Given the description of an element on the screen output the (x, y) to click on. 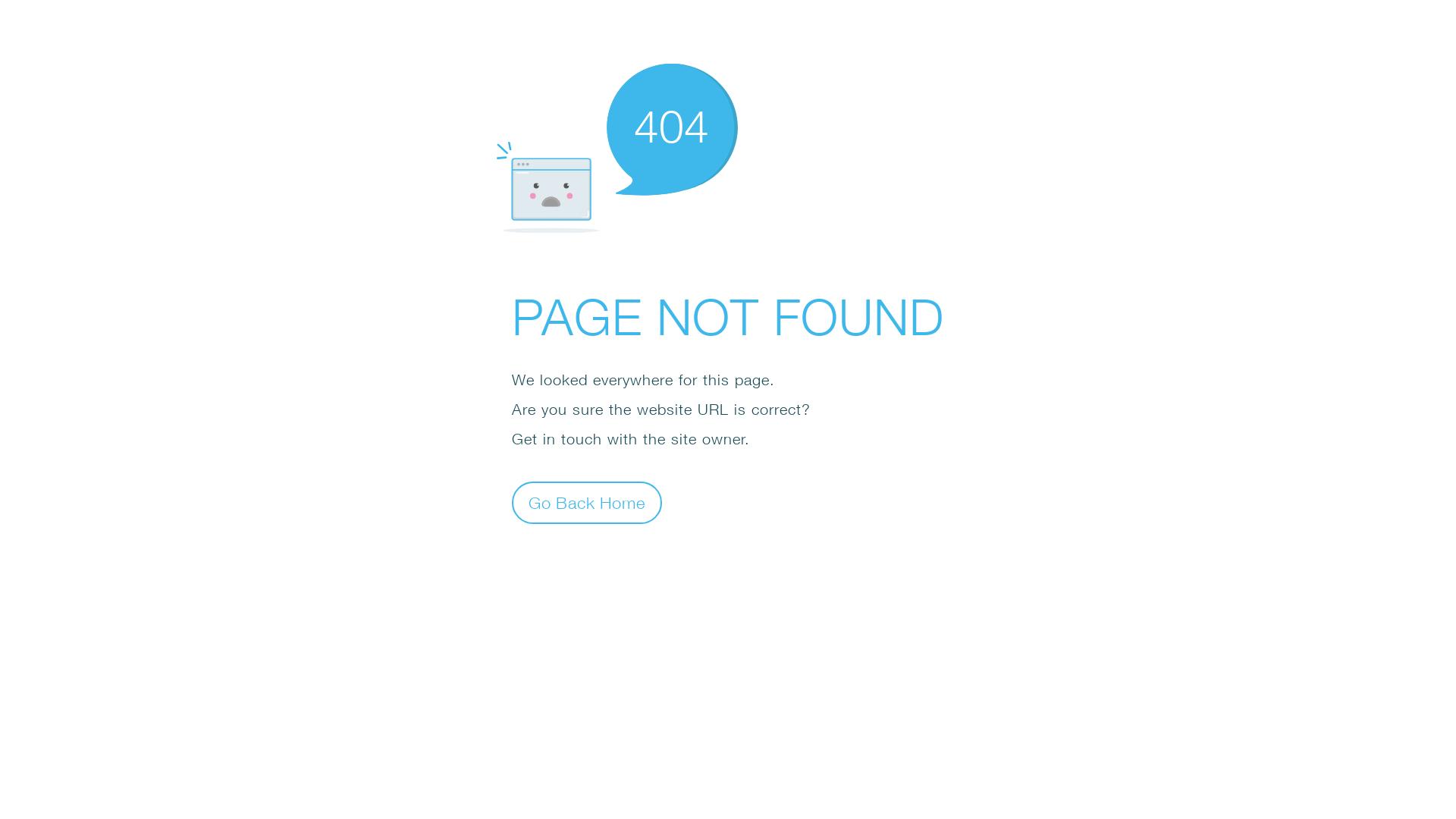
Go Back Home Element type: text (586, 502)
